Given the description of an element on the screen output the (x, y) to click on. 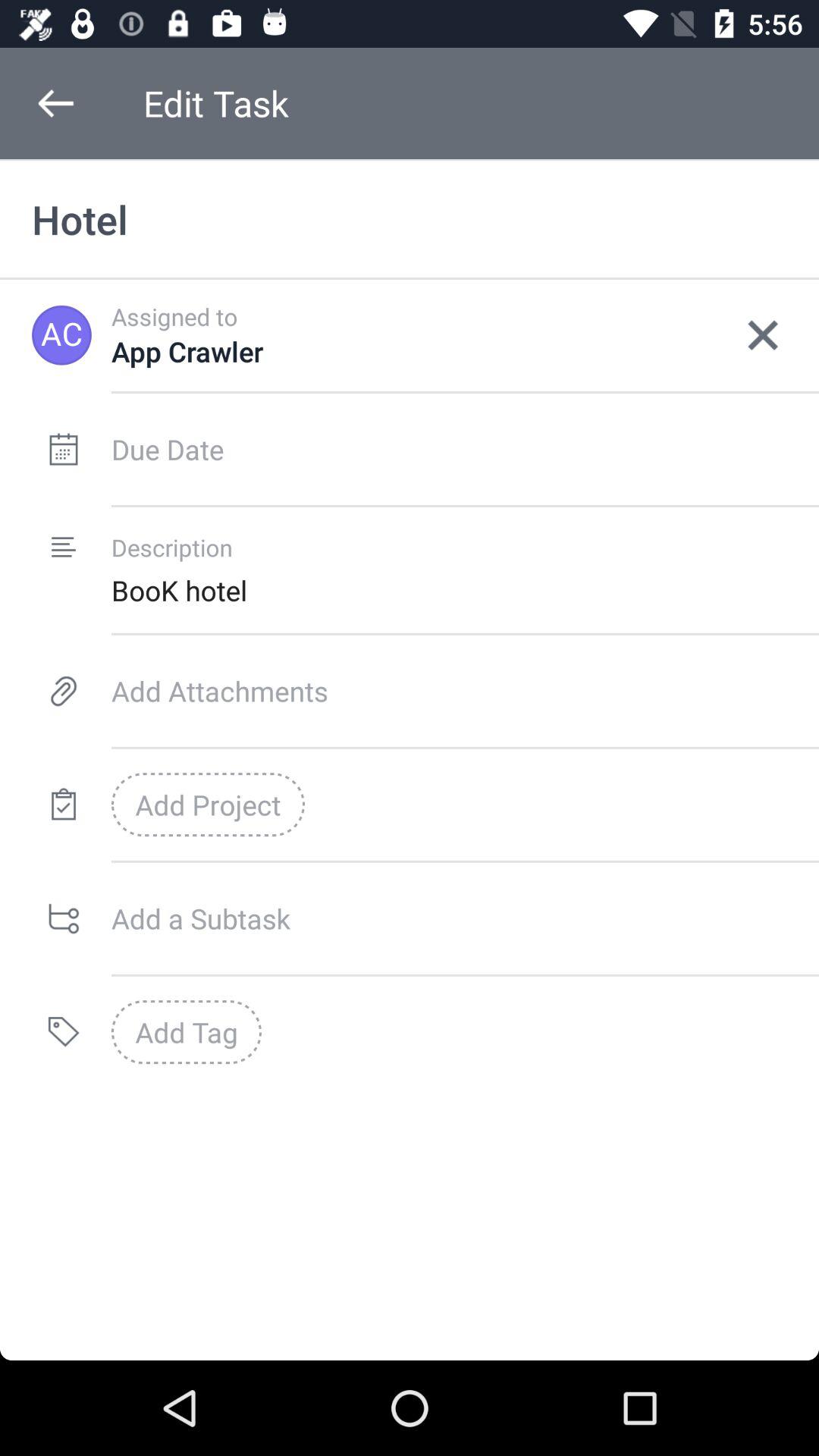
turn on book hotel item (465, 590)
